Given the description of an element on the screen output the (x, y) to click on. 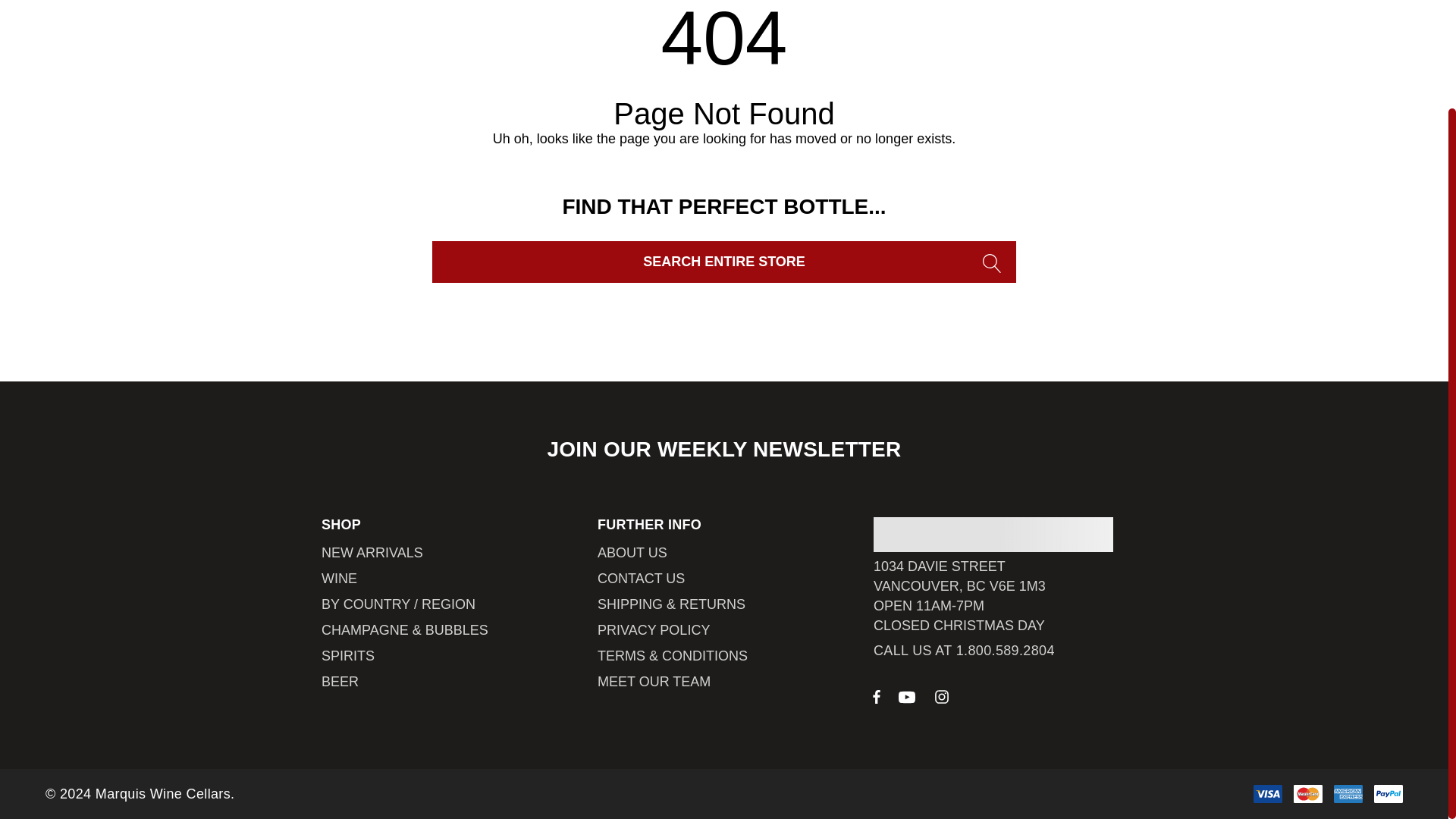
SPIRITS (347, 655)
BEER (339, 681)
instagram instagram (941, 696)
ABOUT US (631, 552)
Amex Amex (1347, 793)
PRIVACY POLICY (653, 629)
MEET OUR TEAM (653, 681)
WINE (338, 578)
Mastercard Mastercard (1308, 793)
Paypal Paypal (1388, 793)
